Given the description of an element on the screen output the (x, y) to click on. 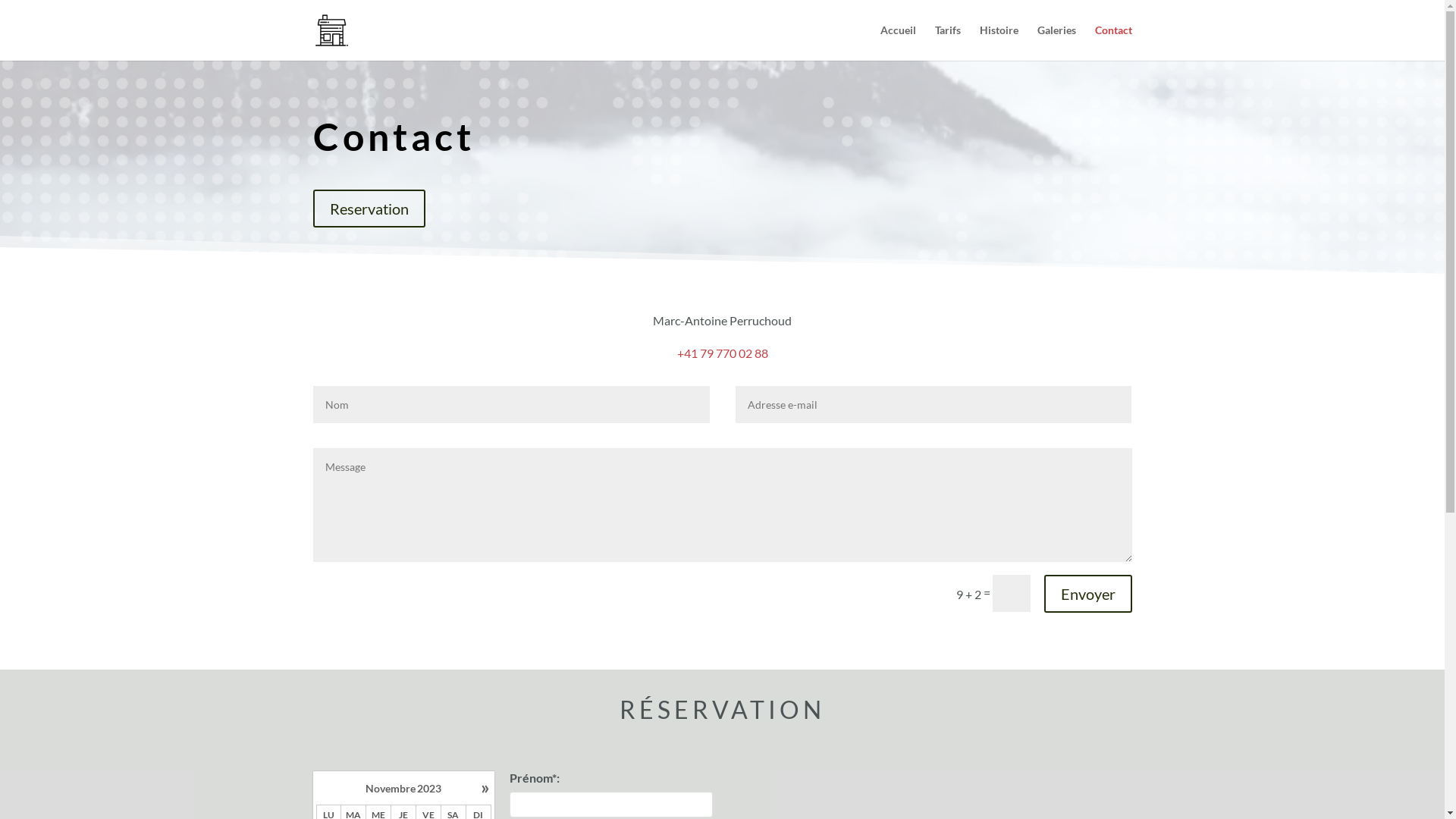
Envoyer Element type: text (1087, 593)
Tarifs Element type: text (947, 42)
Contact Element type: text (1113, 42)
Galeries Element type: text (1056, 42)
+41 79 770 02 88 Element type: text (721, 352)
Histoire Element type: text (998, 42)
Reservation Element type: text (368, 208)
Accueil Element type: text (897, 42)
